Given the description of an element on the screen output the (x, y) to click on. 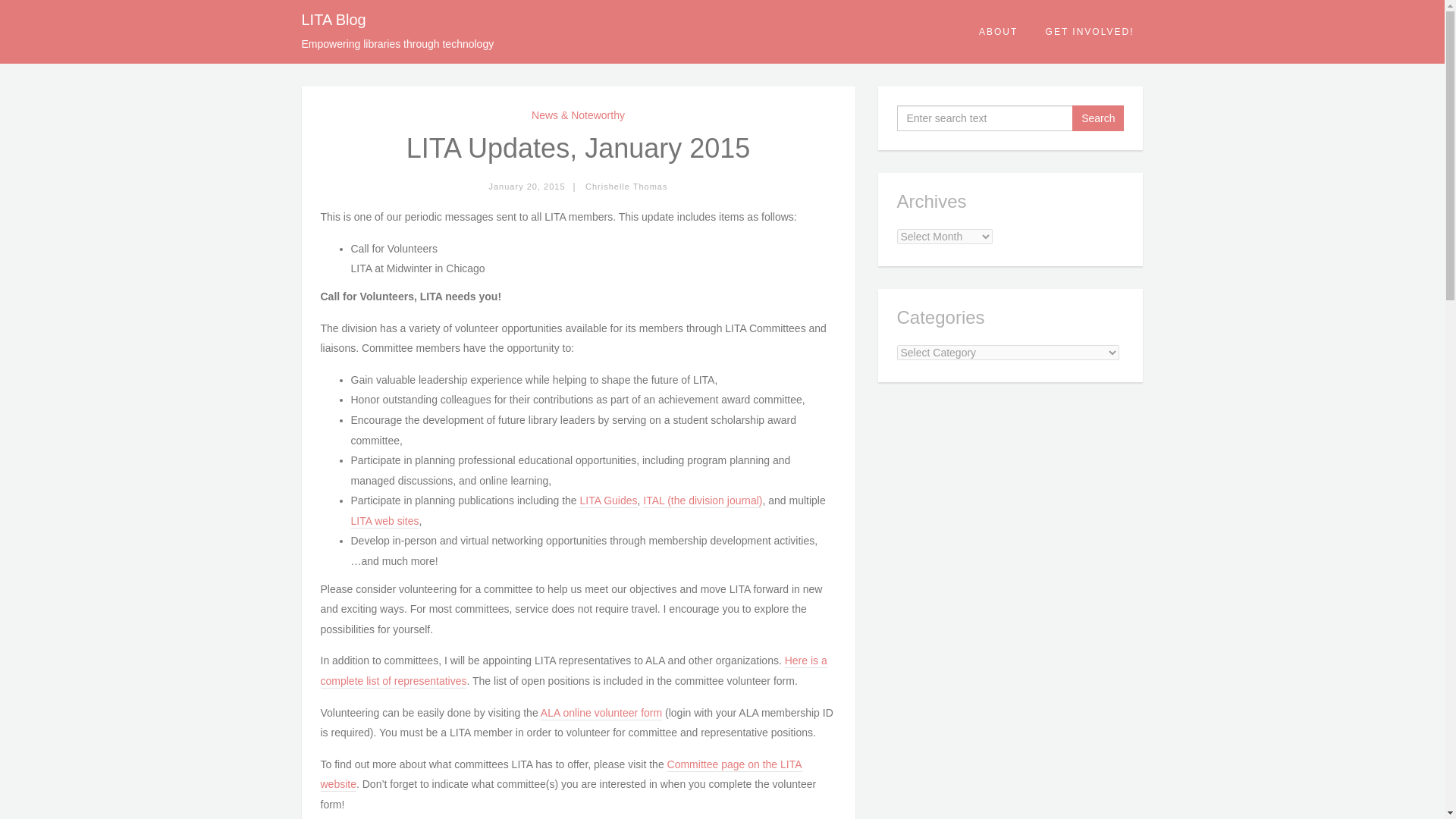
About (998, 31)
ALA online volunteer form (601, 713)
Search (1097, 118)
Here is a complete list of representatives (573, 671)
Search (1097, 118)
GET INVOLVED! (1089, 31)
ABOUT (998, 31)
Chrishelle Thomas (626, 185)
LITA Guides (608, 500)
January 20, 2015 (525, 185)
Committee page on the LITA website (561, 775)
LITA web sites (384, 521)
Get Involved! (1089, 31)
LITA Blog (333, 19)
